Given the description of an element on the screen output the (x, y) to click on. 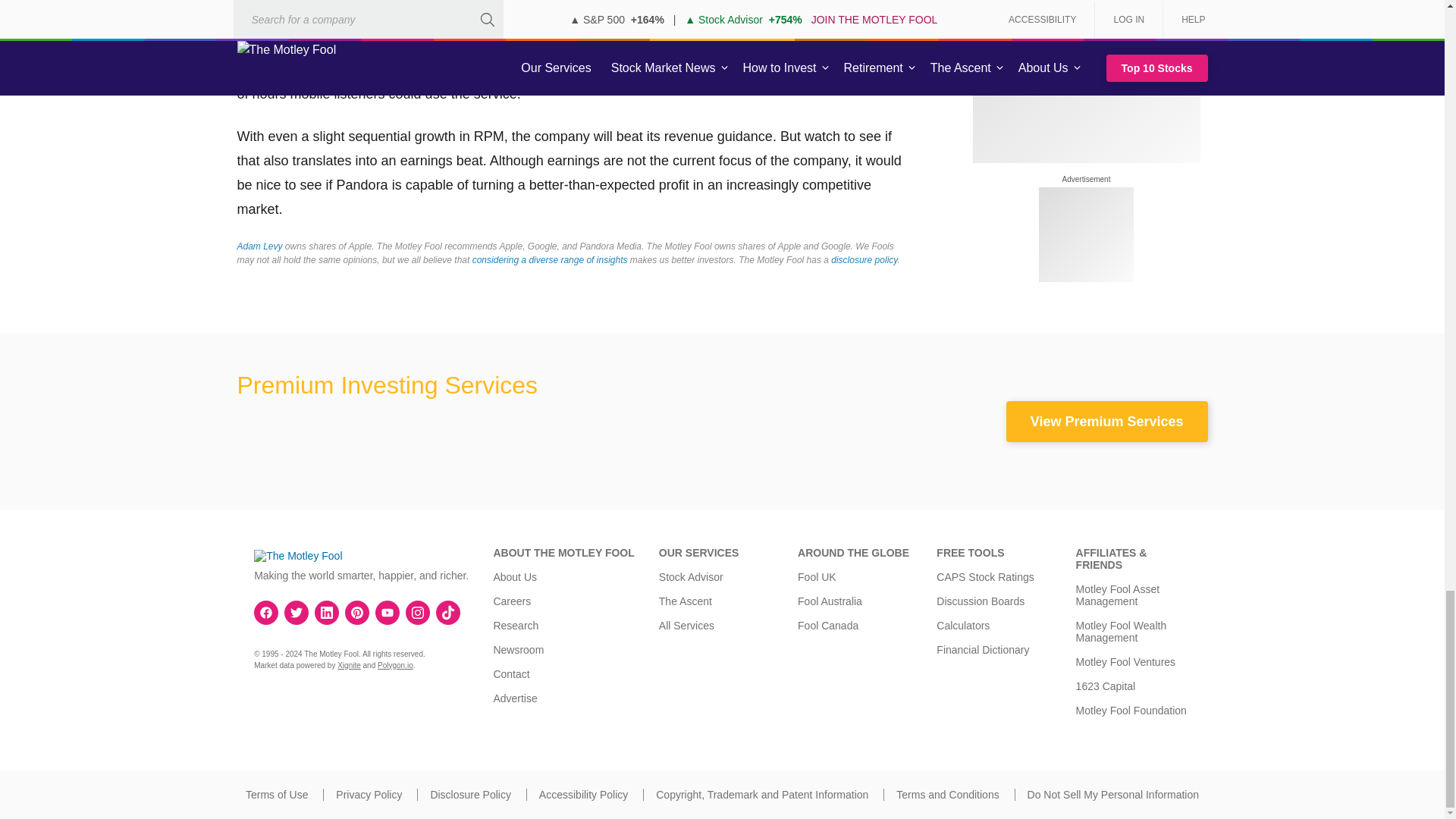
Privacy Policy (368, 794)
Do Not Sell My Personal Information. (1112, 794)
Terms and Conditions (947, 794)
Copyright, Trademark and Patent Information (761, 794)
Disclosure Policy (470, 794)
Terms of Use (276, 794)
Accessibility Policy (582, 794)
